Given the description of an element on the screen output the (x, y) to click on. 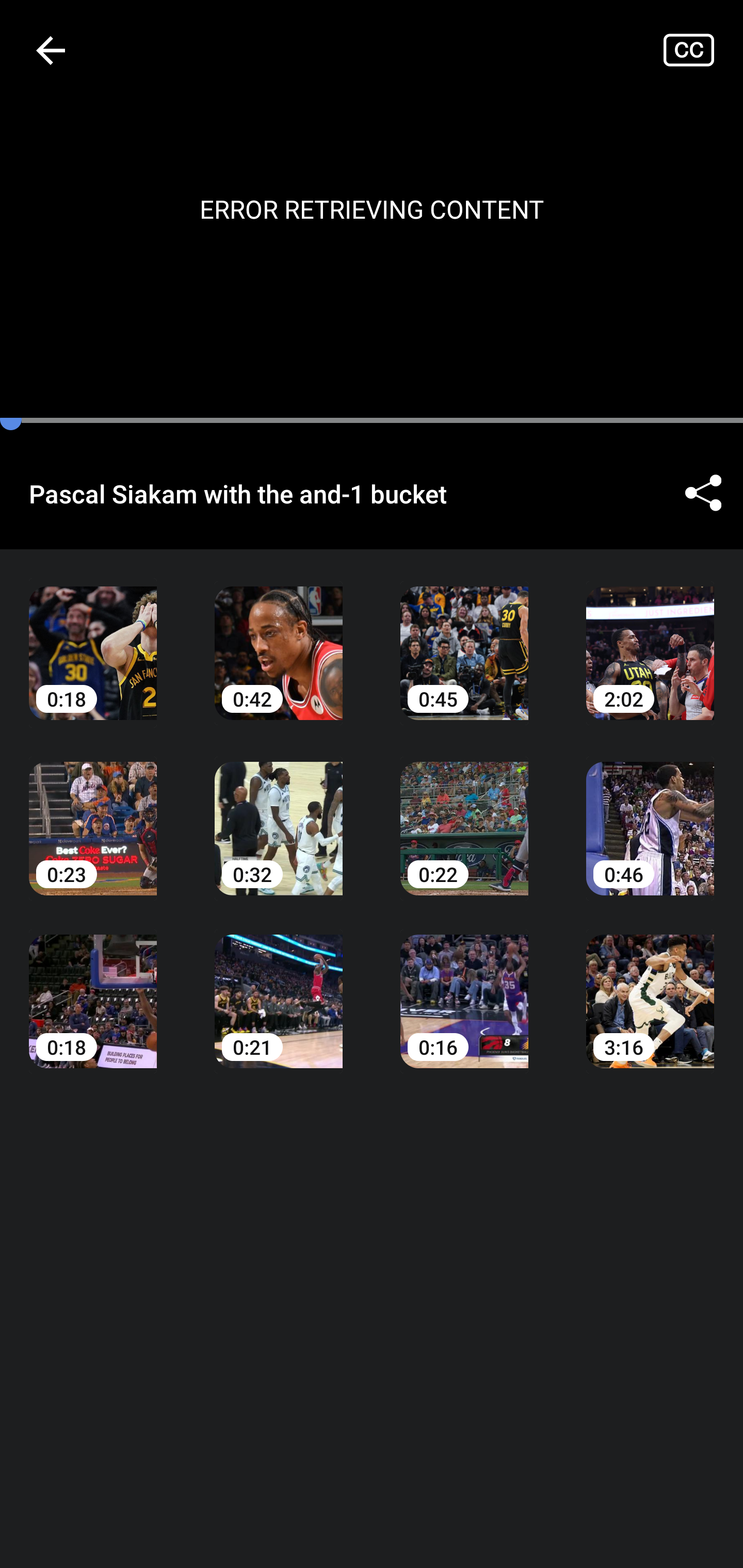
Navigate up (50, 50)
Closed captions  (703, 49)
Share © (703, 493)
0:18 (92, 637)
0:42 (278, 637)
0:45 (464, 637)
2:02 (650, 637)
0:23 (92, 813)
0:32 (278, 813)
0:22 (464, 813)
0:46 (650, 813)
0:18 (92, 987)
0:21 (278, 987)
0:16 (464, 987)
3:16 (650, 987)
